Given the description of an element on the screen output the (x, y) to click on. 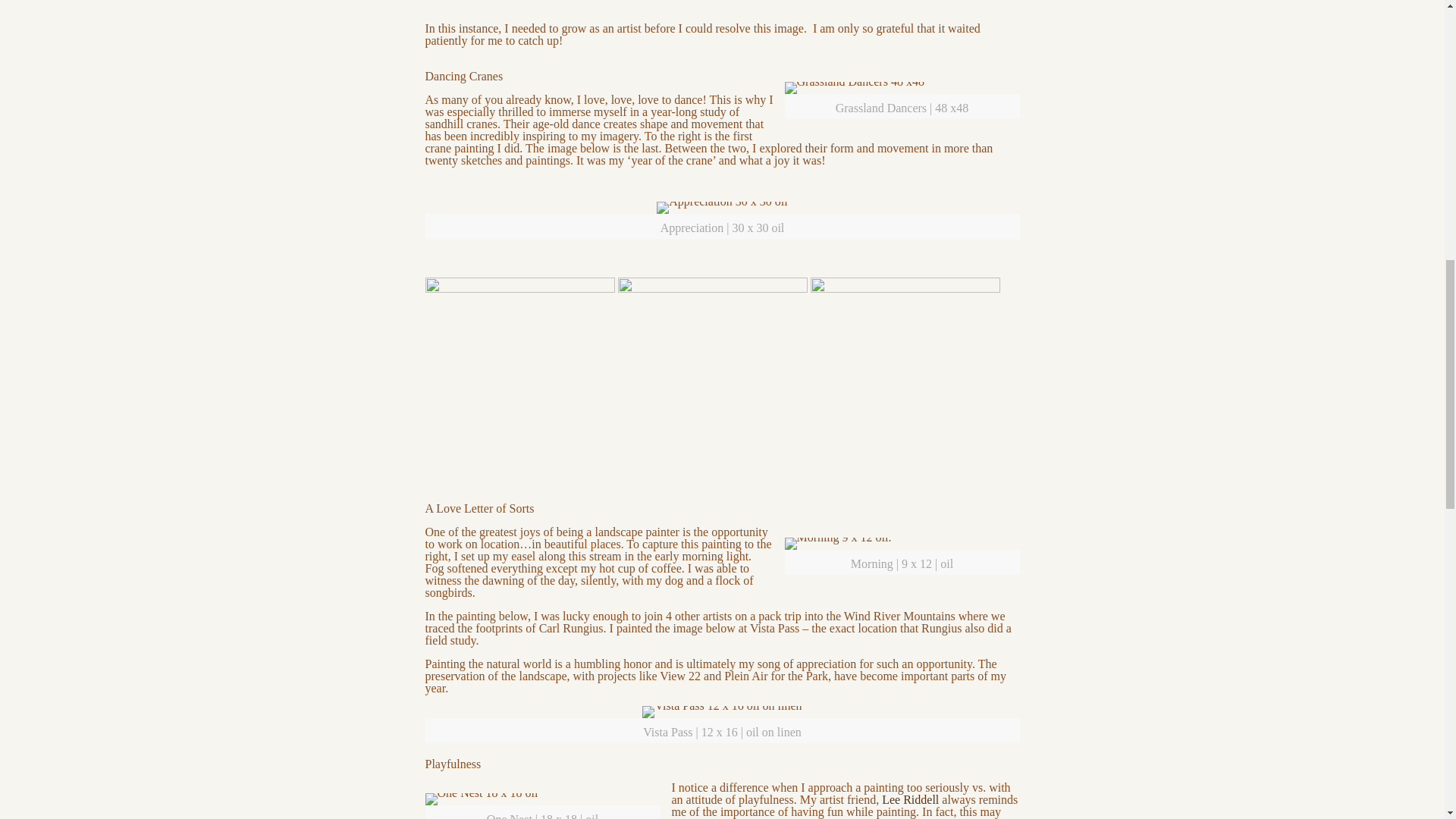
Lee Riddell (910, 799)
